Given the description of an element on the screen output the (x, y) to click on. 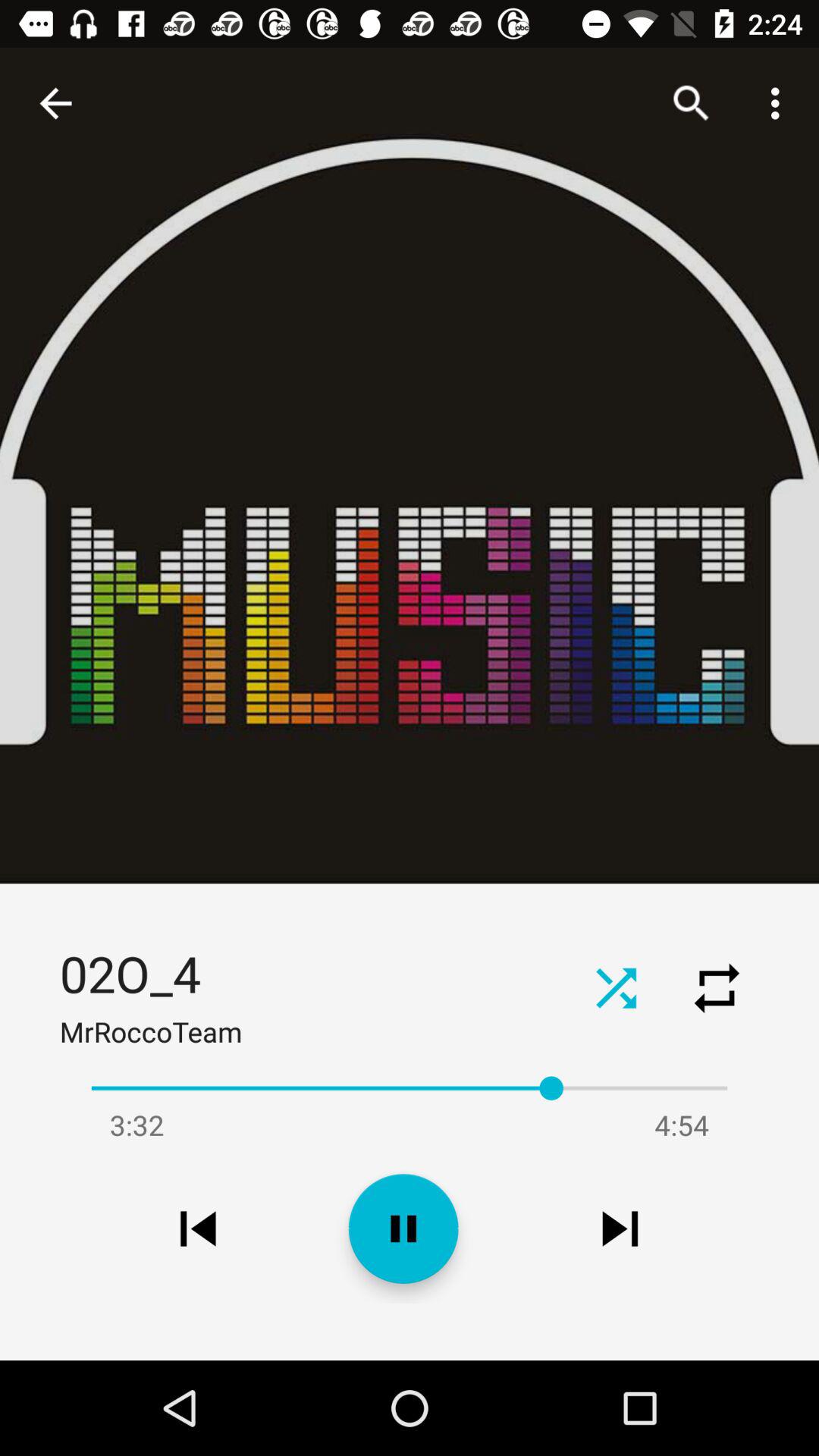
select icon below the 3:33 icon (197, 1228)
